Given the description of an element on the screen output the (x, y) to click on. 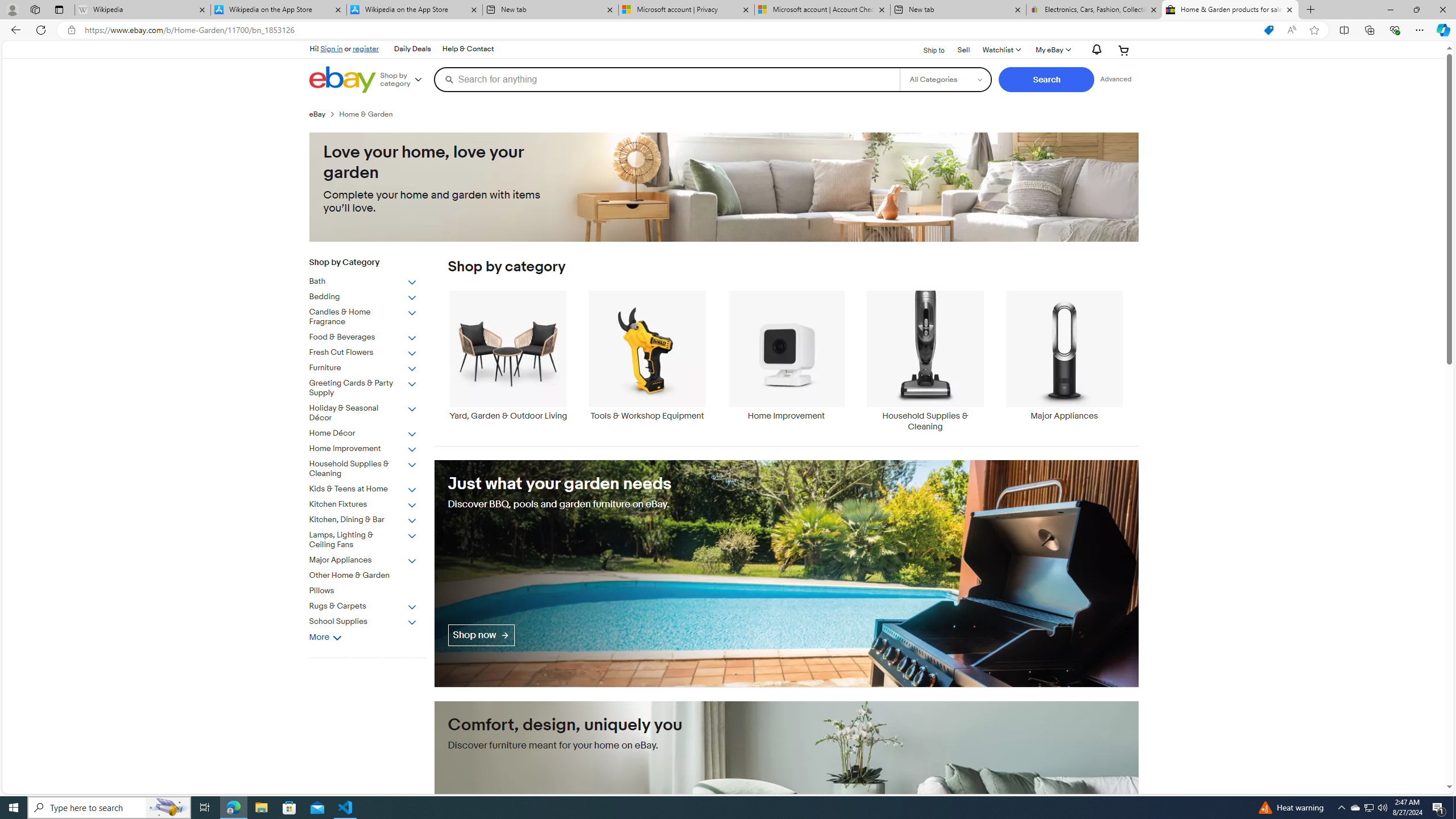
Fresh Cut Flowers (362, 352)
eBay Home (341, 79)
My eBay (1052, 49)
Home Improvement (786, 355)
School Supplies (362, 621)
Just what your garden needs (785, 573)
Yard, Garden & Outdoor Living (508, 355)
Tools & Workshop Equipment (646, 360)
Personal Profile (12, 9)
Address and search bar (669, 29)
Select a category for search (945, 78)
More View more categories (325, 637)
Candles & Home Fragrance (362, 317)
Microsoft account | Privacy (685, 9)
Ship to (926, 49)
